Given the description of an element on the screen output the (x, y) to click on. 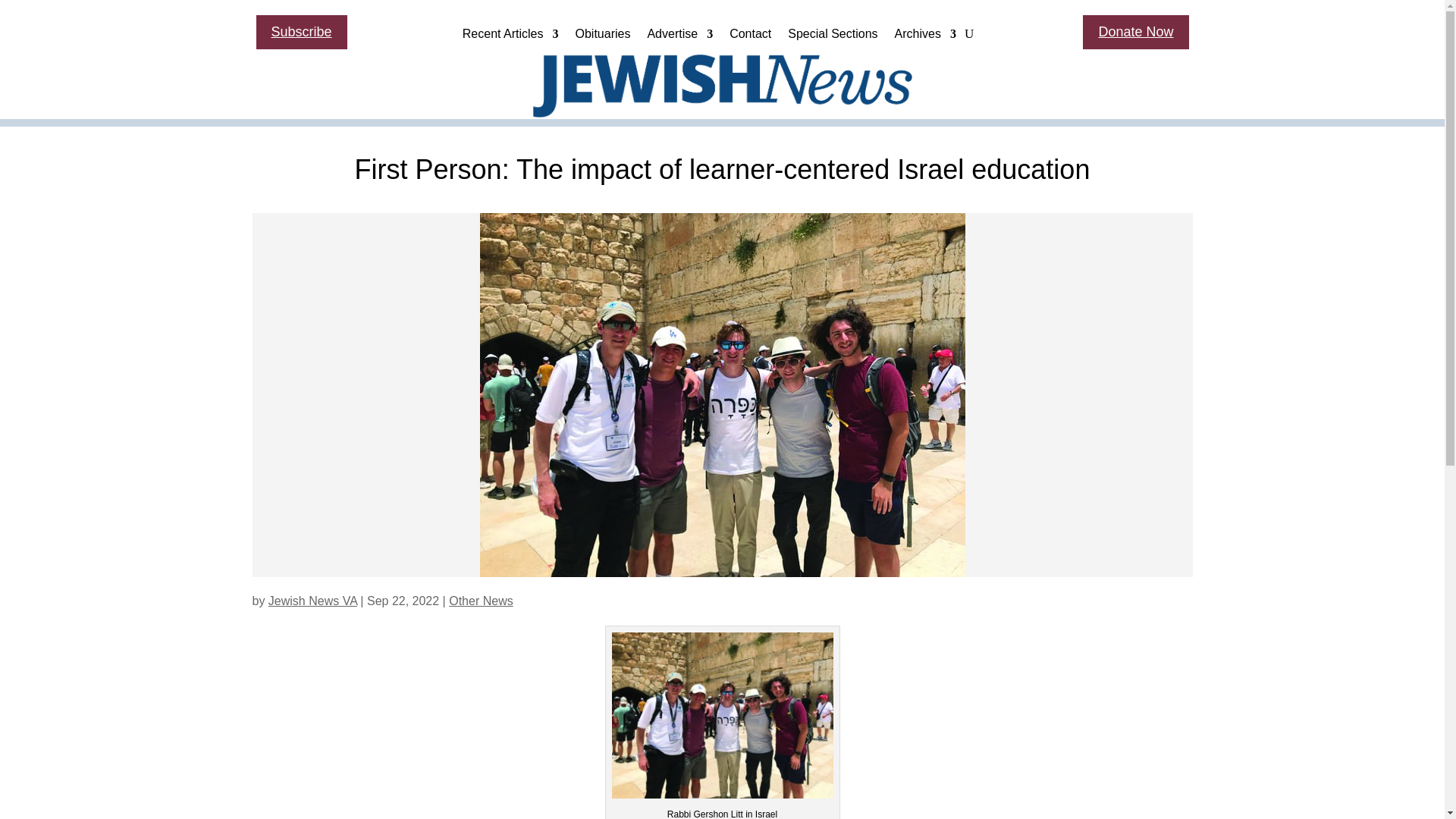
Litt in Israel (721, 715)
Donate Now (1135, 32)
Archives (925, 37)
Contact (750, 37)
Advertise (679, 37)
Subscribe (301, 32)
Posts by Jewish News VA (311, 600)
Recent Articles (511, 37)
Obituaries (602, 37)
Special Sections (832, 37)
